Given the description of an element on the screen output the (x, y) to click on. 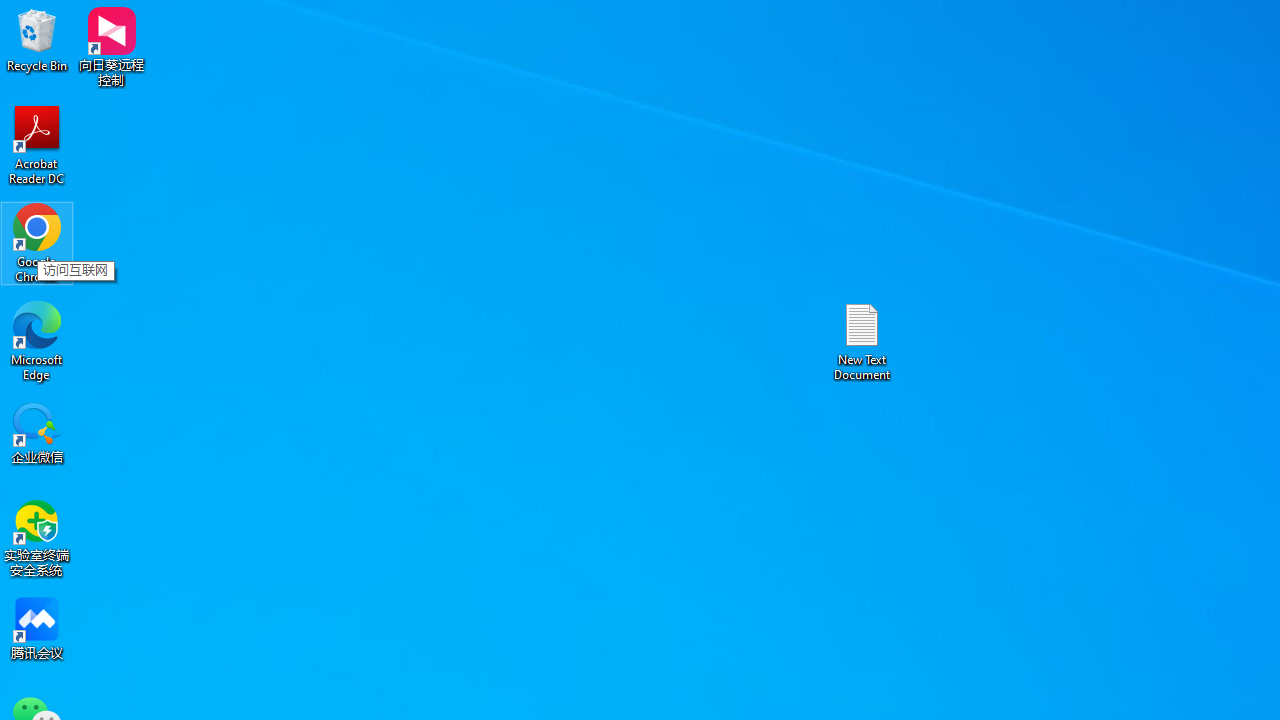
Acrobat Reader DC (37, 144)
New Text Document (861, 340)
Microsoft Edge (37, 340)
Google Chrome (37, 242)
Recycle Bin (37, 39)
